Given the description of an element on the screen output the (x, y) to click on. 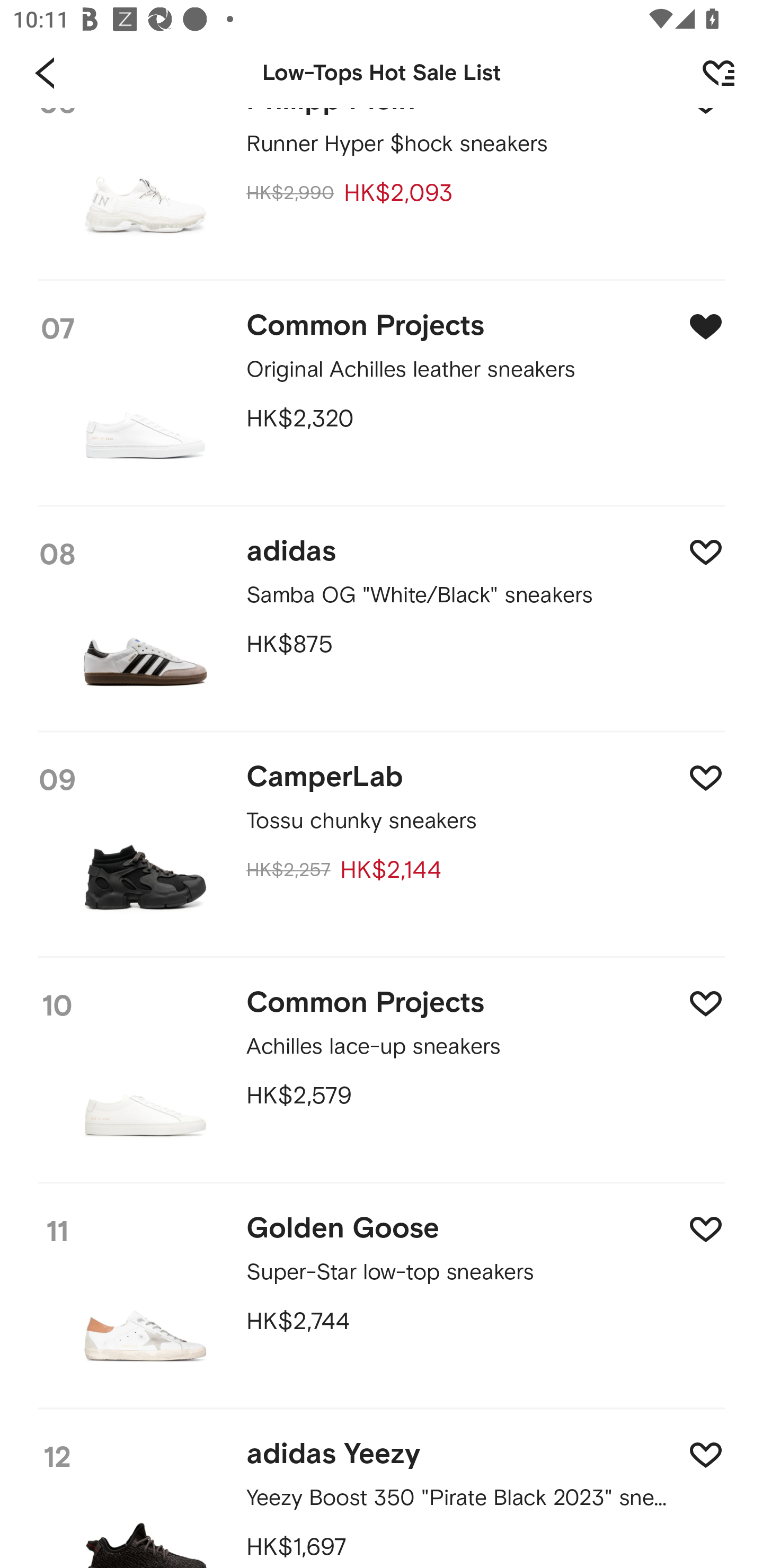
08 adidas Samba OG "White/Black" sneakers HK$875 (381, 620)
